Given the description of an element on the screen output the (x, y) to click on. 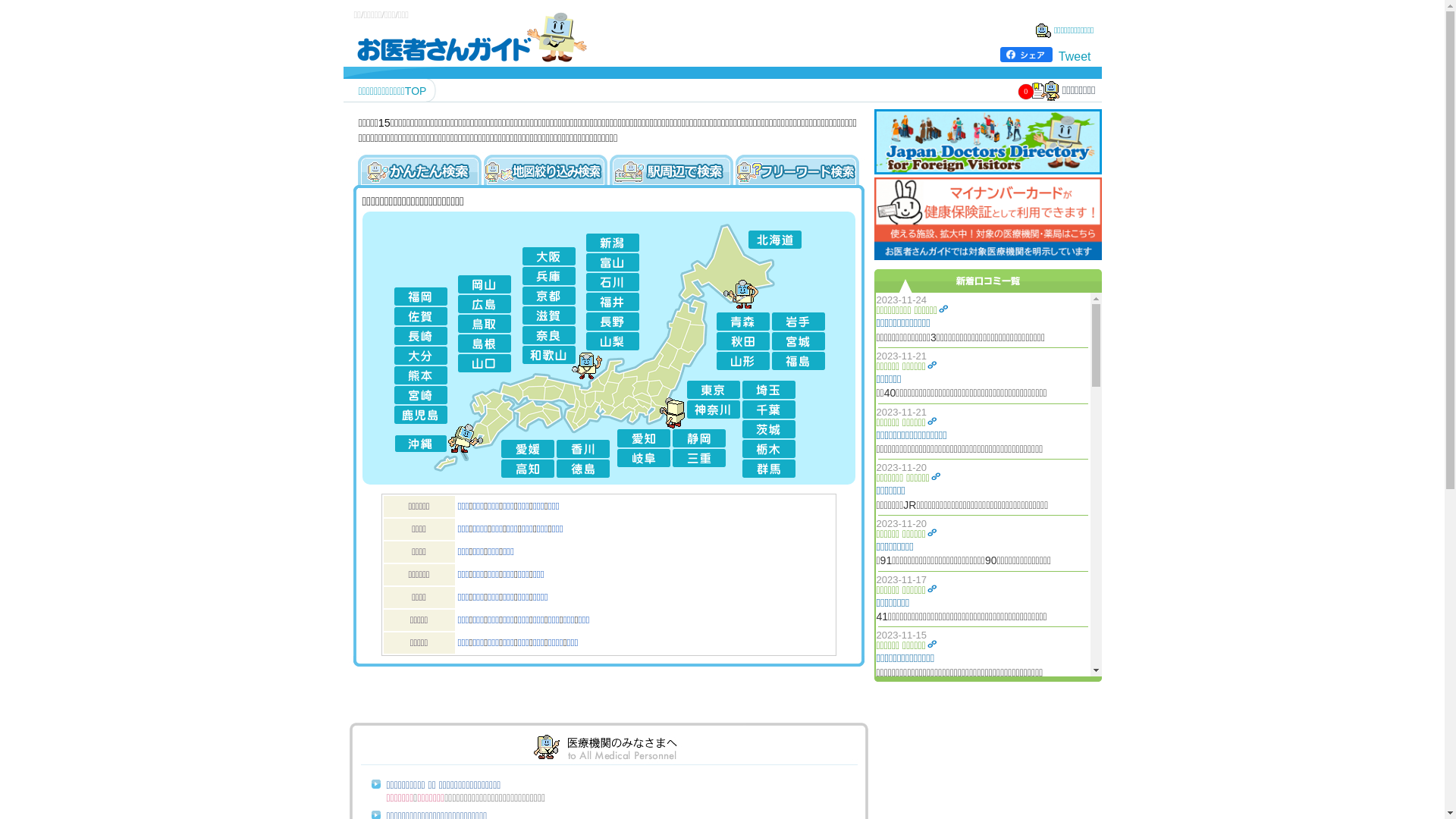
Tweet Element type: text (1074, 56)
facebook Element type: text (1026, 54)
